Given the description of an element on the screen output the (x, y) to click on. 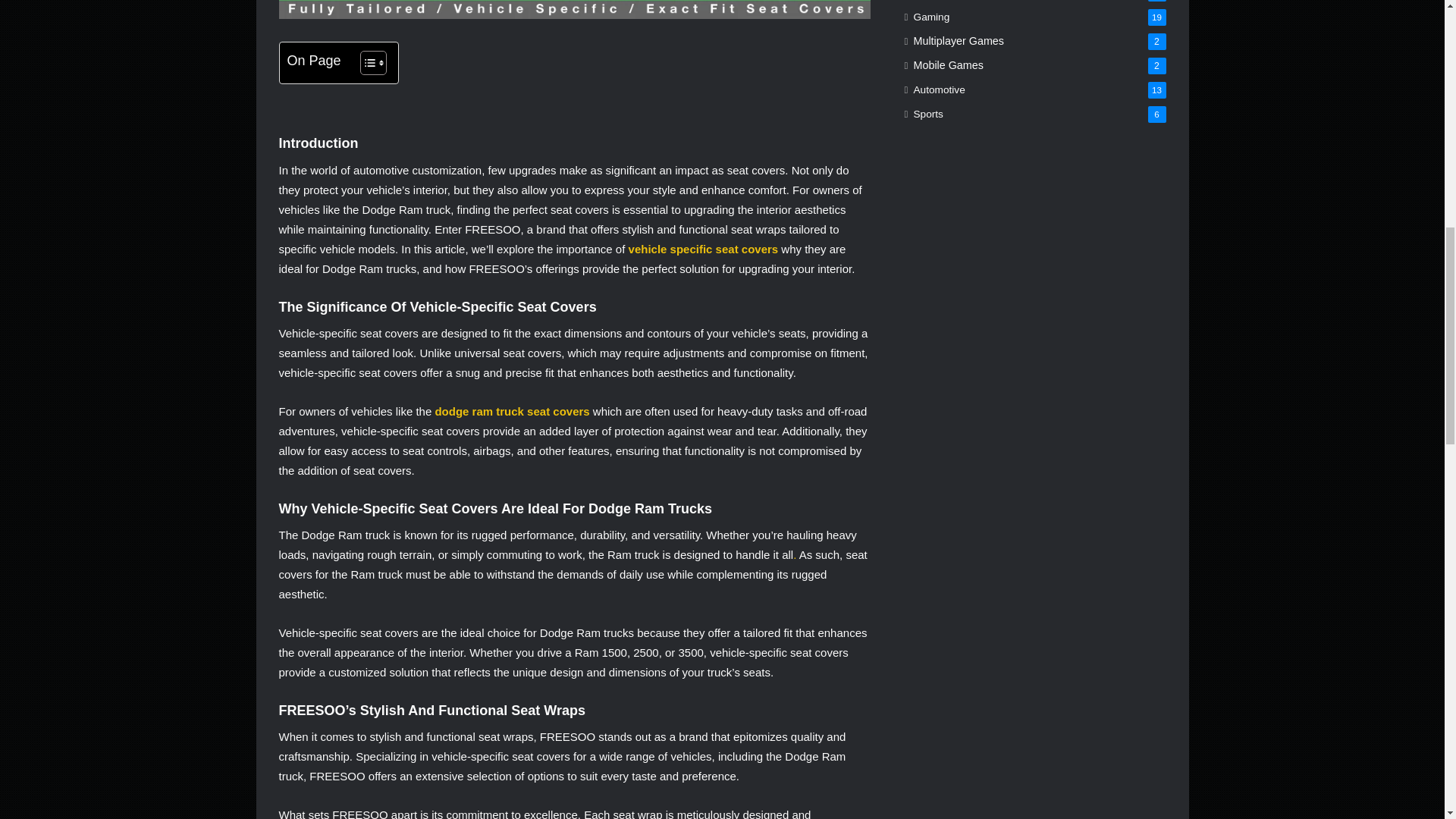
. (794, 554)
vehicle specific seat covers (703, 248)
dodge ram truck seat covers (511, 410)
